Given the description of an element on the screen output the (x, y) to click on. 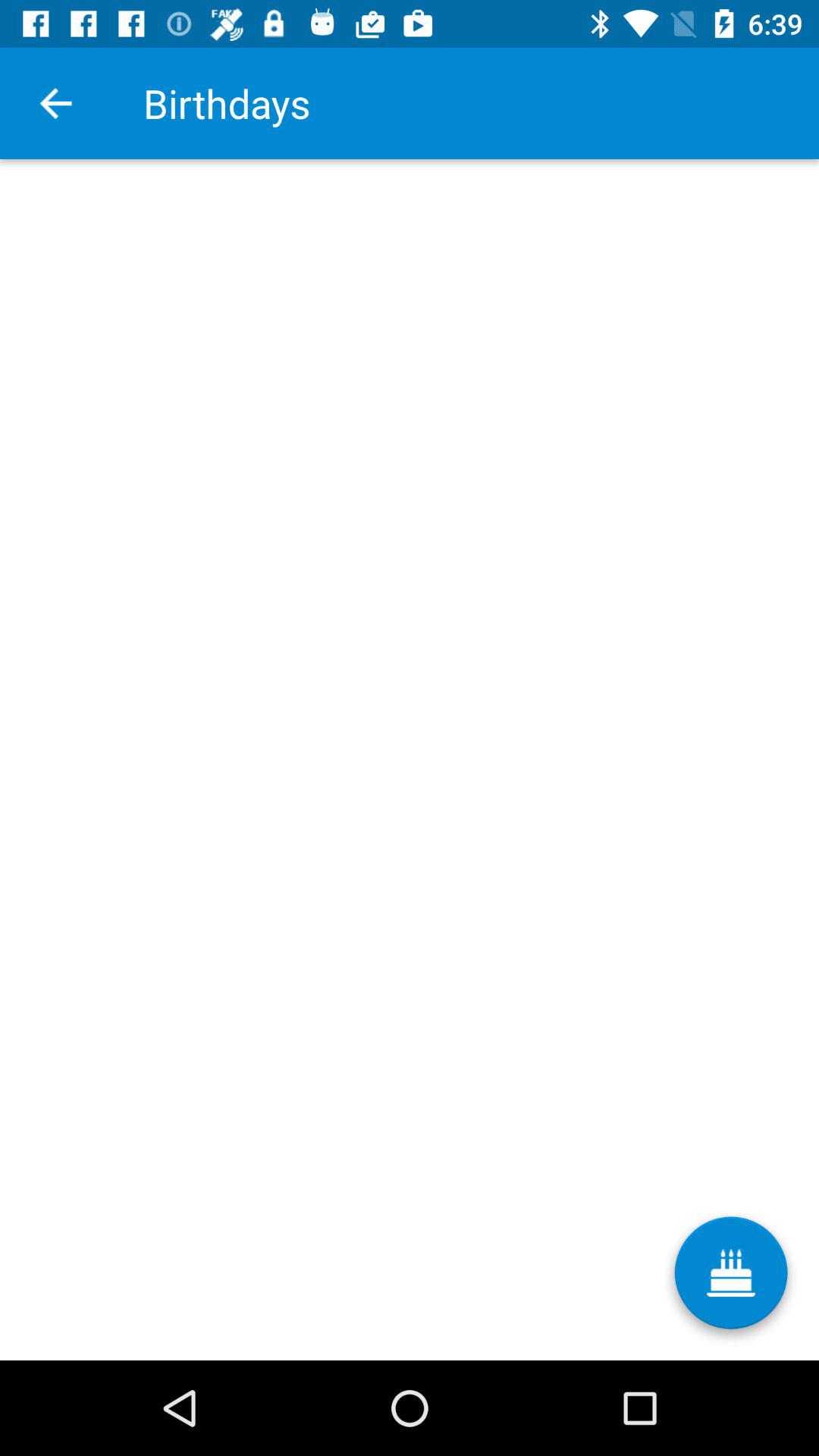
select icon below the birthdays item (730, 1278)
